Given the description of an element on the screen output the (x, y) to click on. 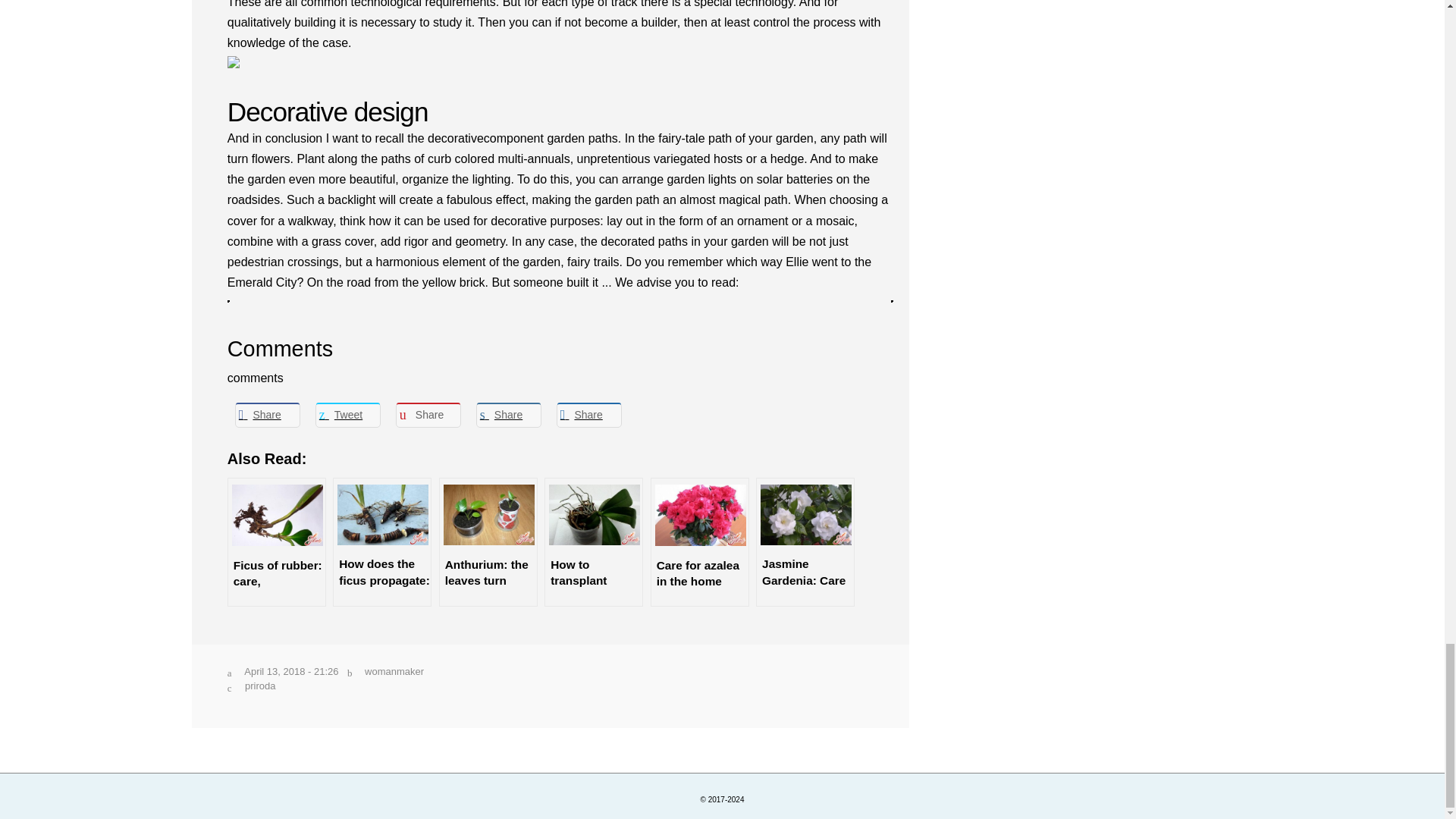
Share on Digg (588, 414)
Share on LinkedIn (508, 414)
Posts by womanmaker (394, 671)
Jasmine Gardenia: Care (804, 541)
Share on Facebook (266, 414)
Share on Twitter (347, 414)
How to transplant Phalaenopsis orchid? (593, 541)
Care for azalea in the home (699, 541)
Share on Pinterest (428, 414)
